Given the description of an element on the screen output the (x, y) to click on. 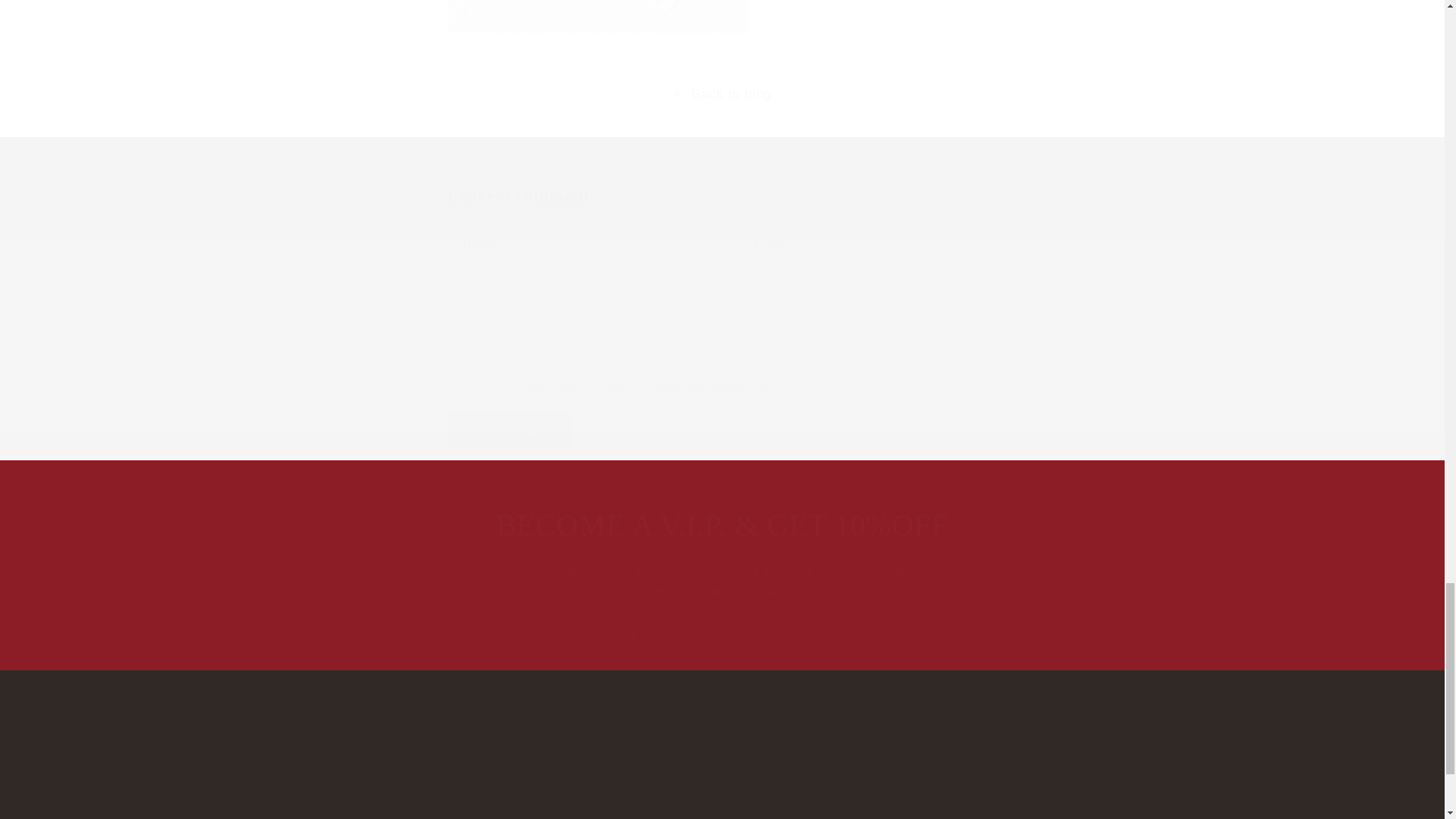
Post comment (510, 429)
Email (722, 773)
